Given the description of an element on the screen output the (x, y) to click on. 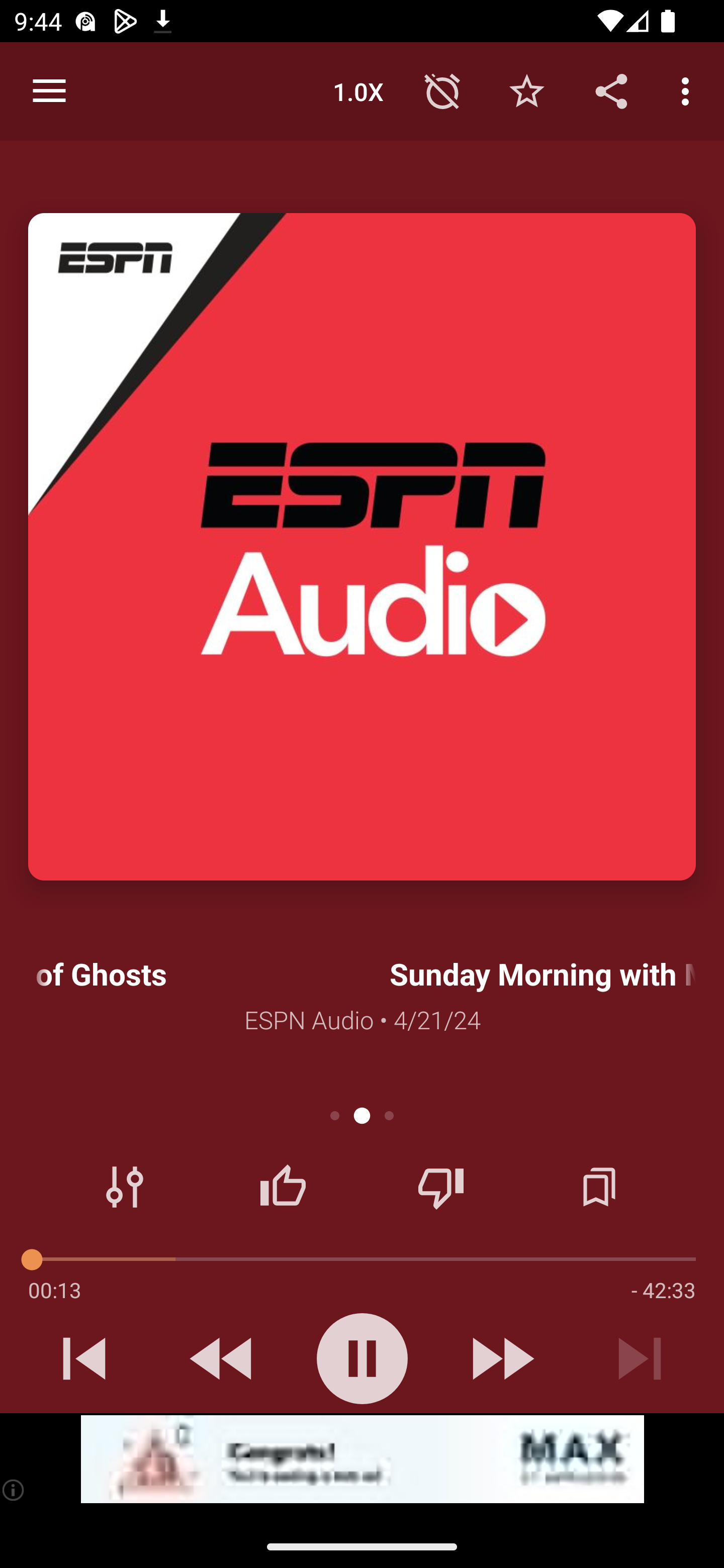
Open navigation sidebar (49, 91)
1.0X (357, 90)
Sleep Timer (442, 90)
Favorite (526, 90)
Share (611, 90)
More options (688, 90)
Episode description (361, 547)
Audio effects (124, 1186)
Thumbs up (283, 1186)
Thumbs down (440, 1186)
Chapters / Bookmarks (598, 1186)
- 42:33 (663, 1289)
Previous track (84, 1358)
Skip 15s backward (222, 1358)
Play / Pause (362, 1358)
Skip 30s forward (500, 1358)
Next track (639, 1358)
app-monetization (362, 1459)
(i) (14, 1489)
